Given the description of an element on the screen output the (x, y) to click on. 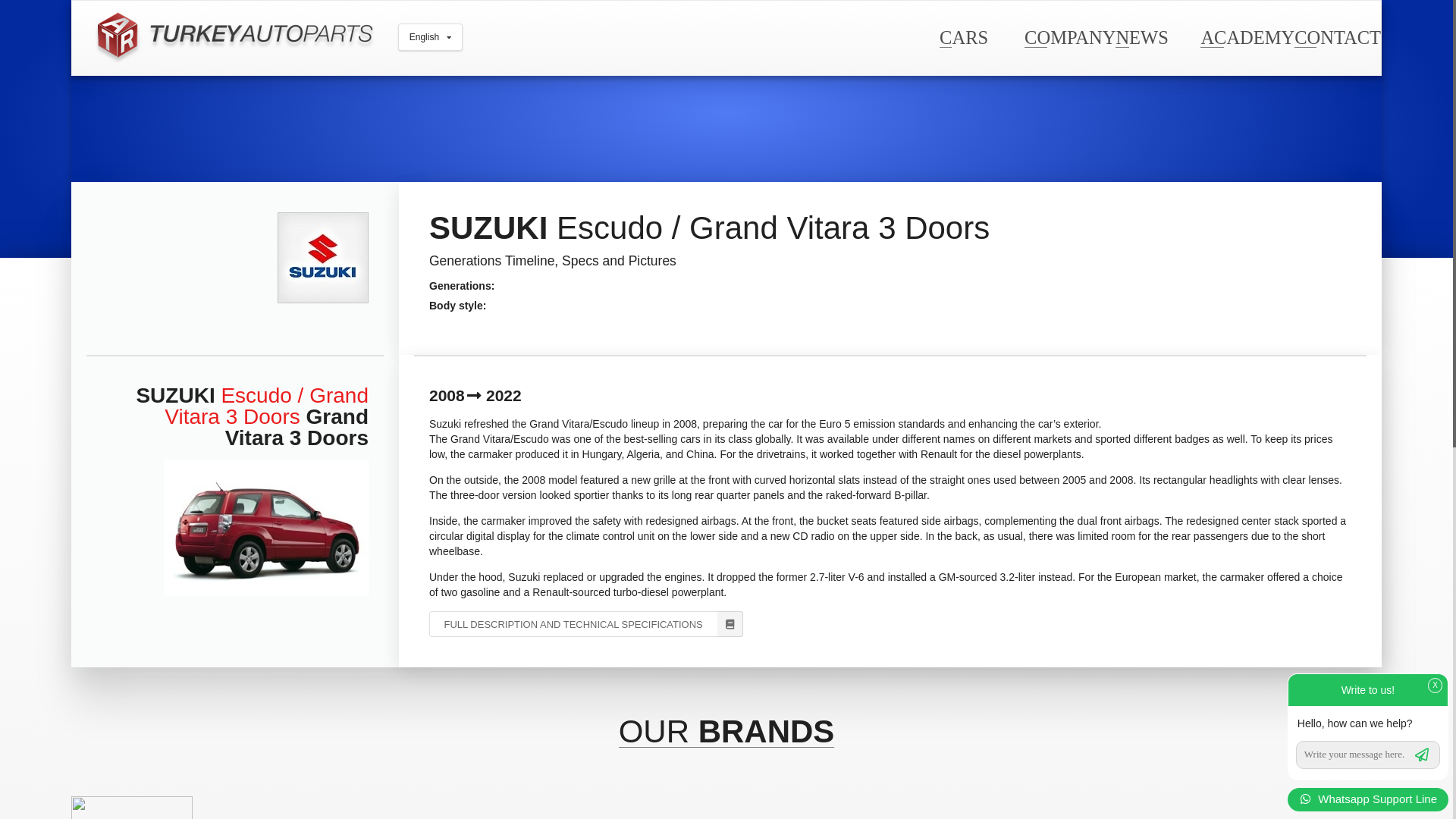
NEWS (1141, 37)
FULL DESCRIPTION AND TECHNICAL SPECIFICATIONS (585, 623)
CONTACT (1337, 37)
CARS (963, 37)
COMPANY (1070, 37)
ACADEMY (1246, 37)
